Given the description of an element on the screen output the (x, y) to click on. 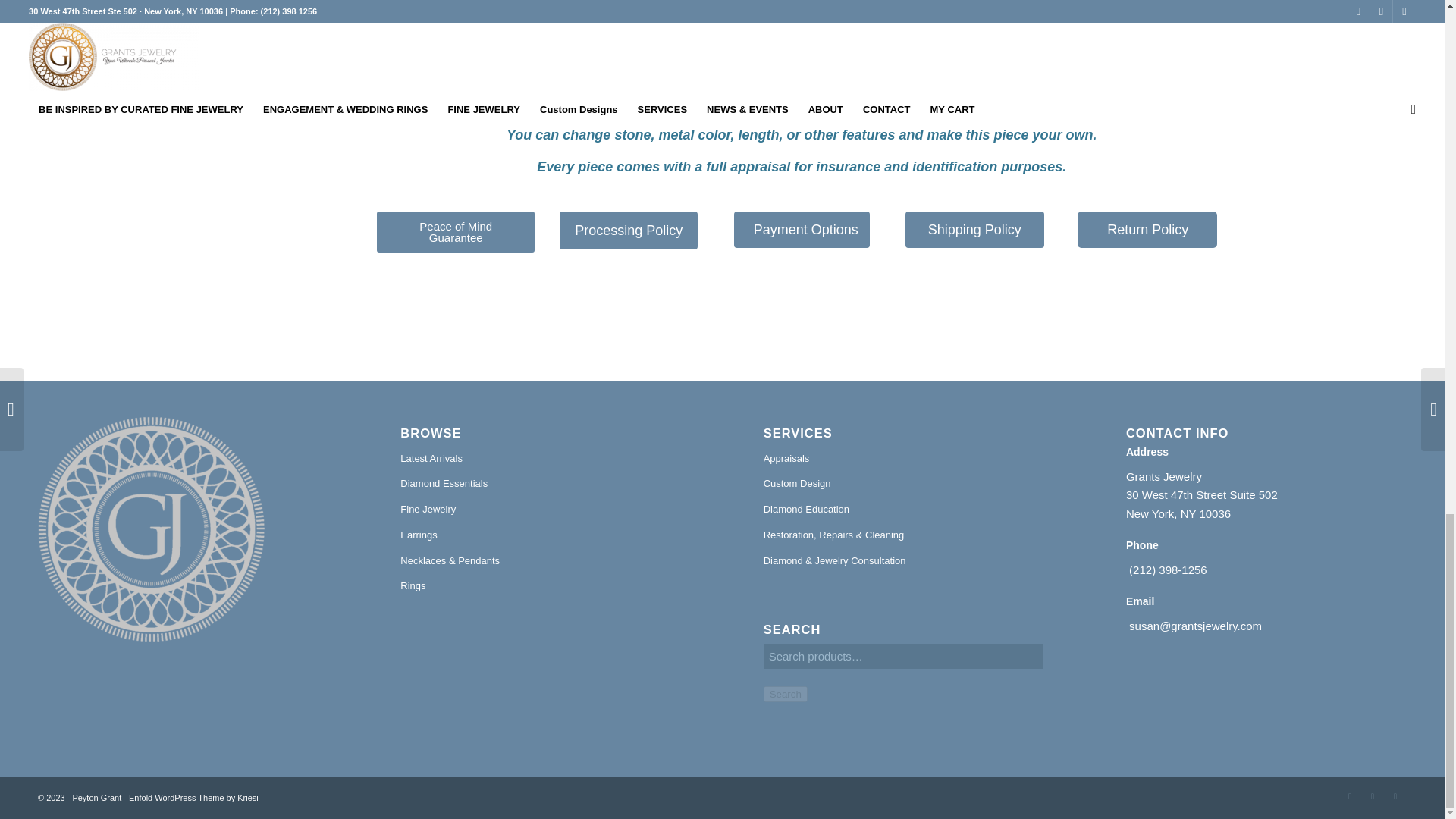
Email Susan (954, 102)
Facebook (1349, 795)
LinkedIn (1395, 795)
Instagram (1372, 795)
